Given the description of an element on the screen output the (x, y) to click on. 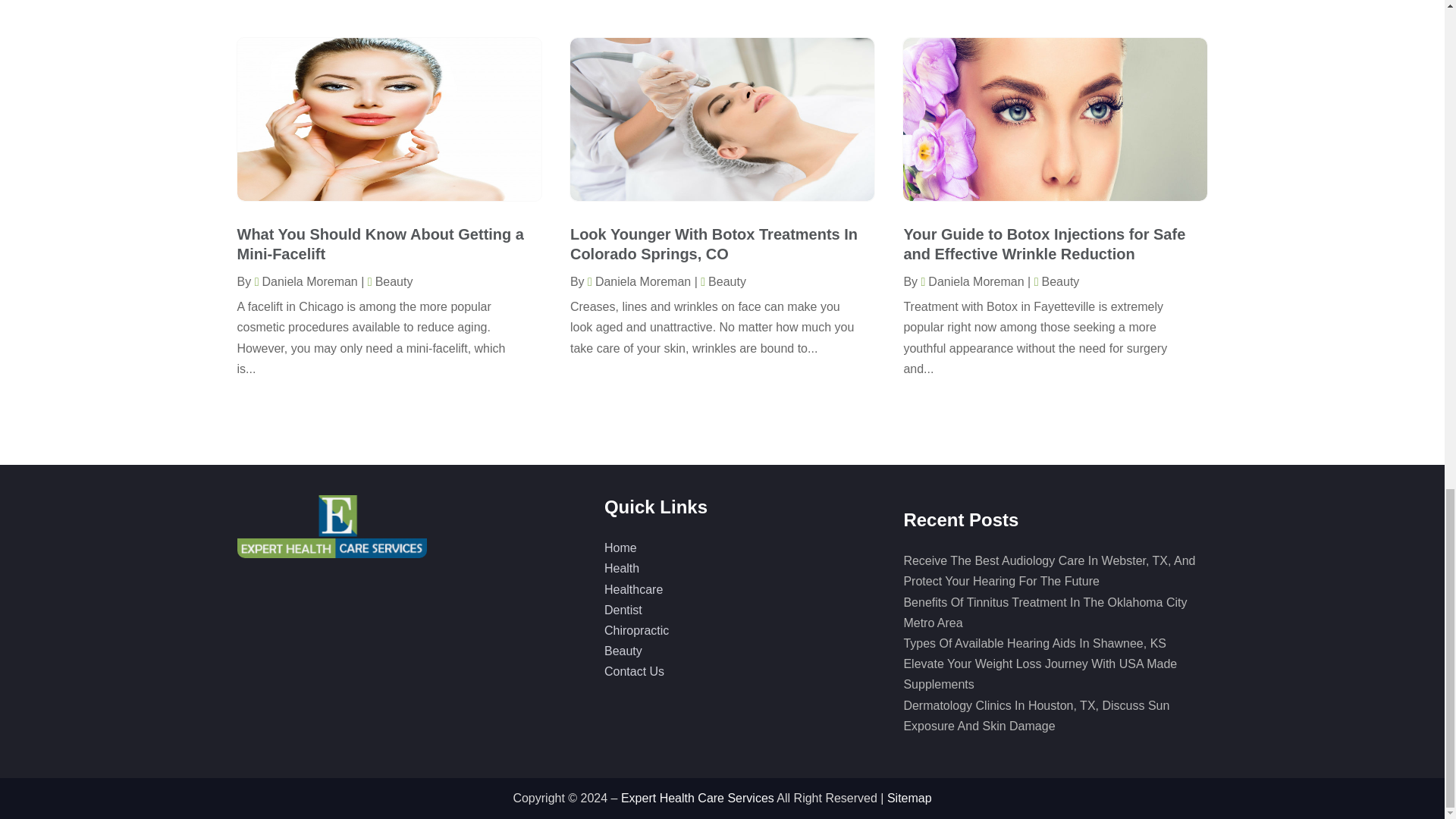
Posts by Daniela Moreman (639, 281)
Posts by Daniela Moreman (971, 281)
Expert Health Care Services (330, 526)
Posts by Daniela Moreman (306, 281)
